Given the description of an element on the screen output the (x, y) to click on. 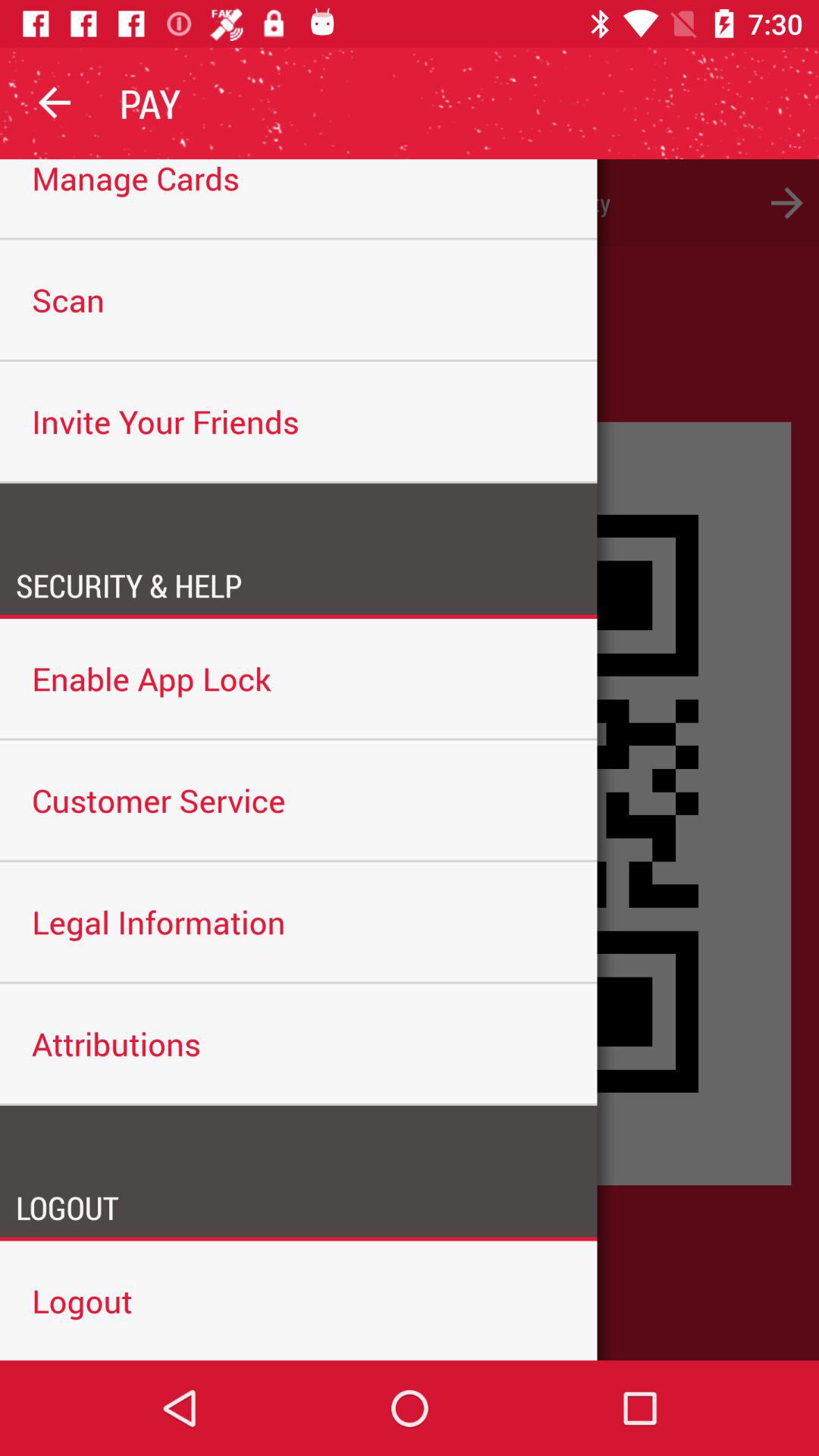
select the customer service item (298, 799)
